Given the description of an element on the screen output the (x, y) to click on. 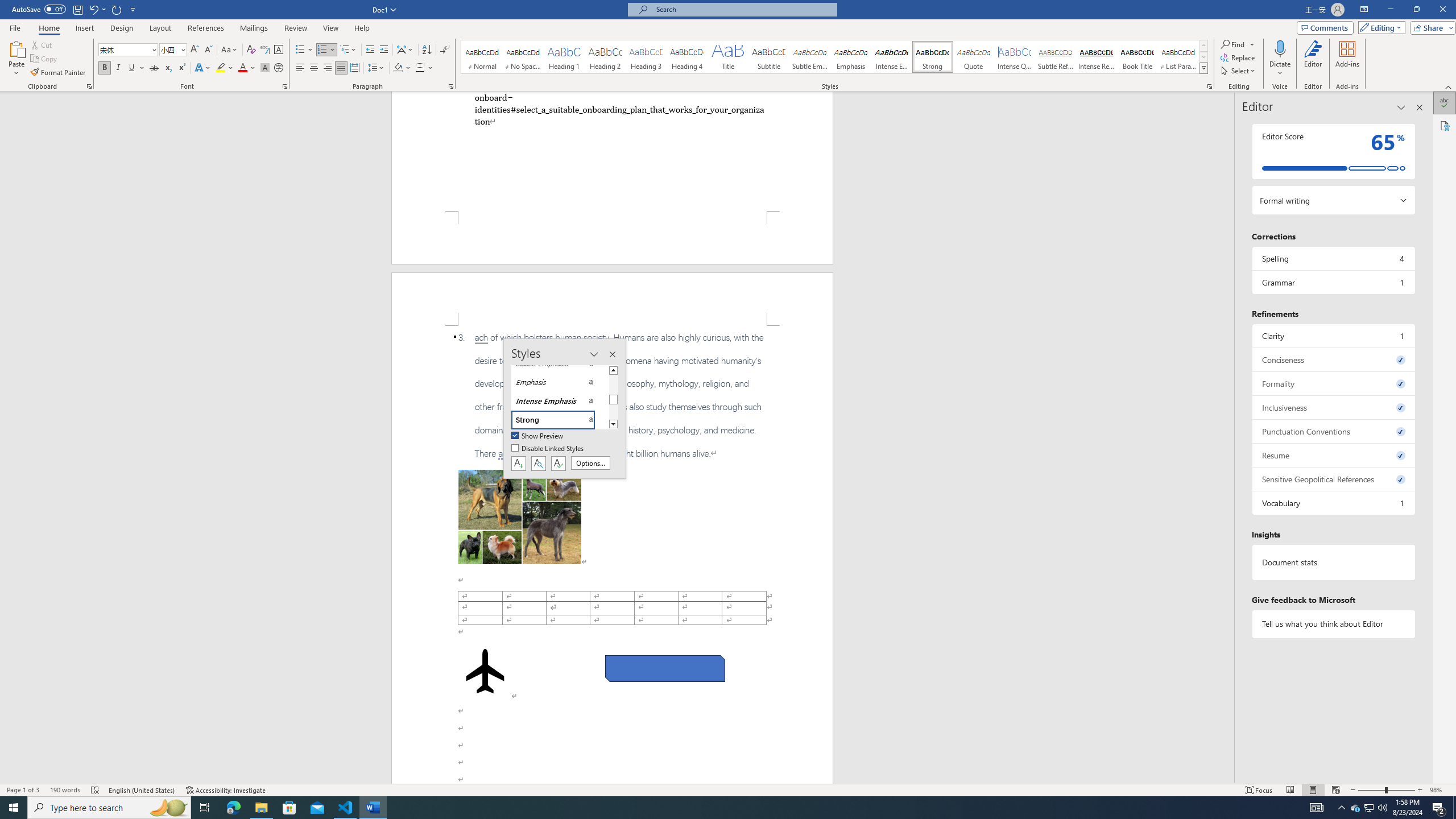
Disable Linked Styles (548, 448)
Page 2 content (611, 554)
Subtle Emphasis (809, 56)
